Given the description of an element on the screen output the (x, y) to click on. 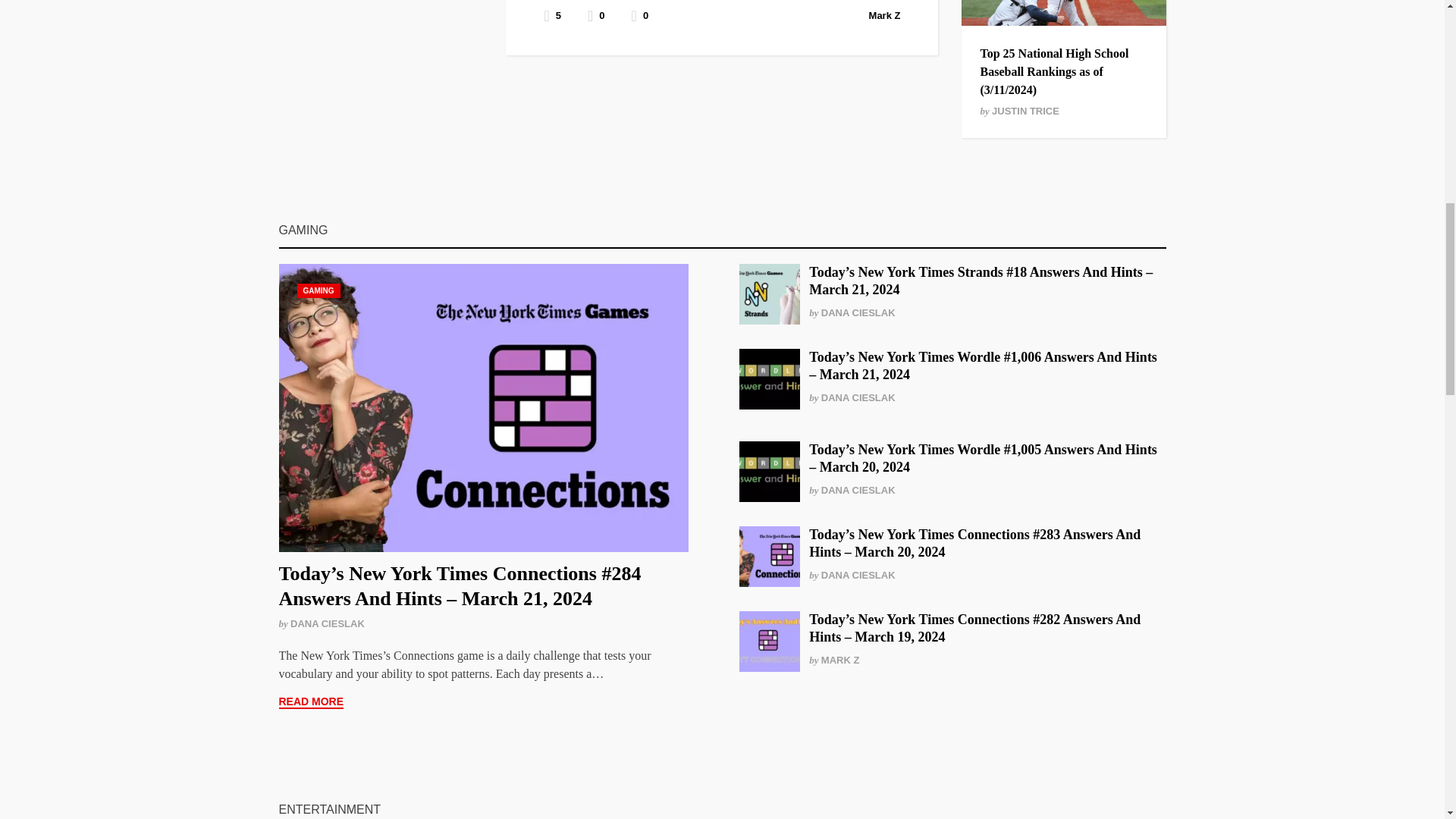
0 (640, 15)
JUSTIN TRICE (1025, 111)
Like this (640, 15)
Mark Z (885, 15)
